Given the description of an element on the screen output the (x, y) to click on. 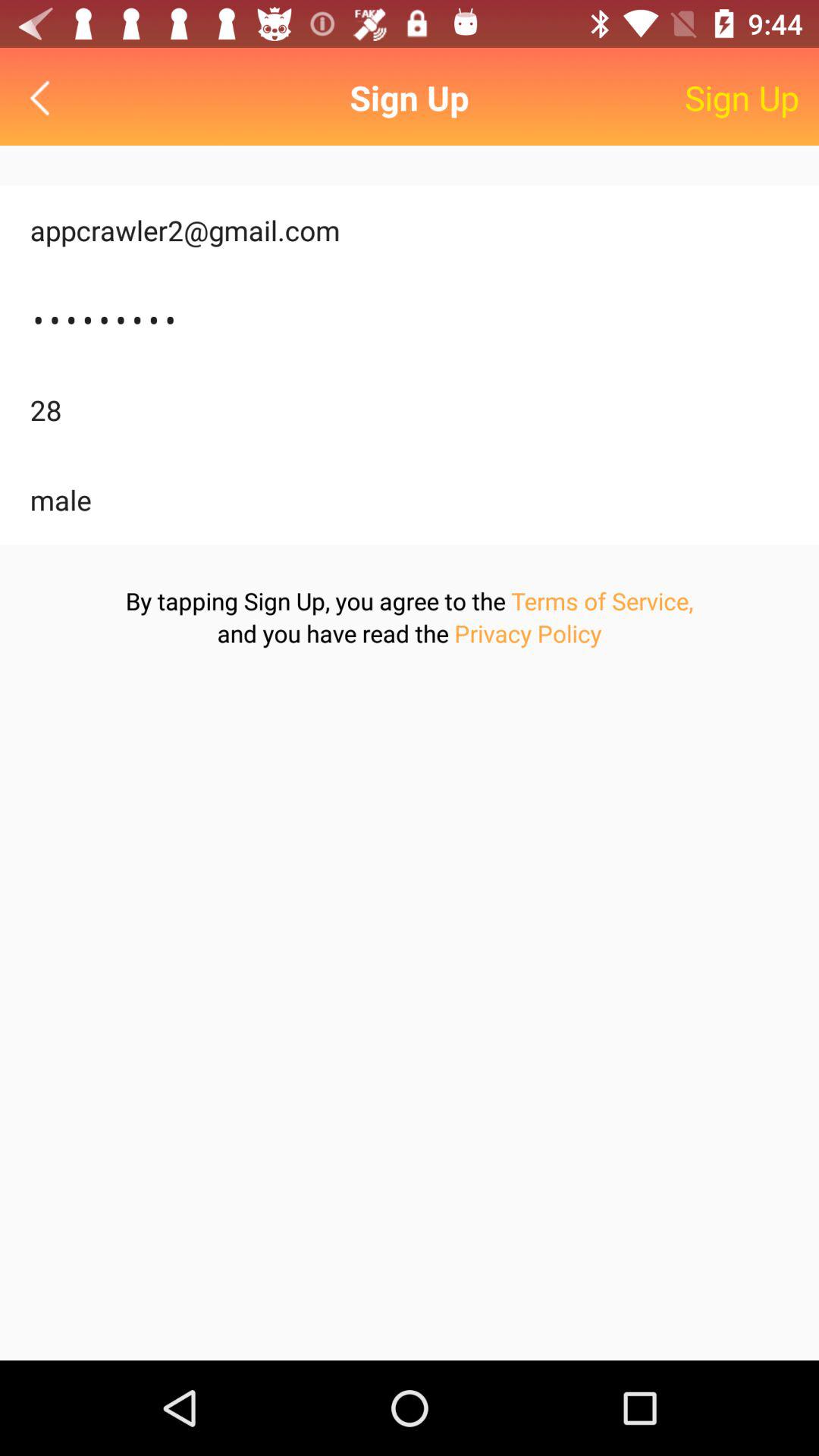
launch icon next to the sign up (43, 97)
